Given the description of an element on the screen output the (x, y) to click on. 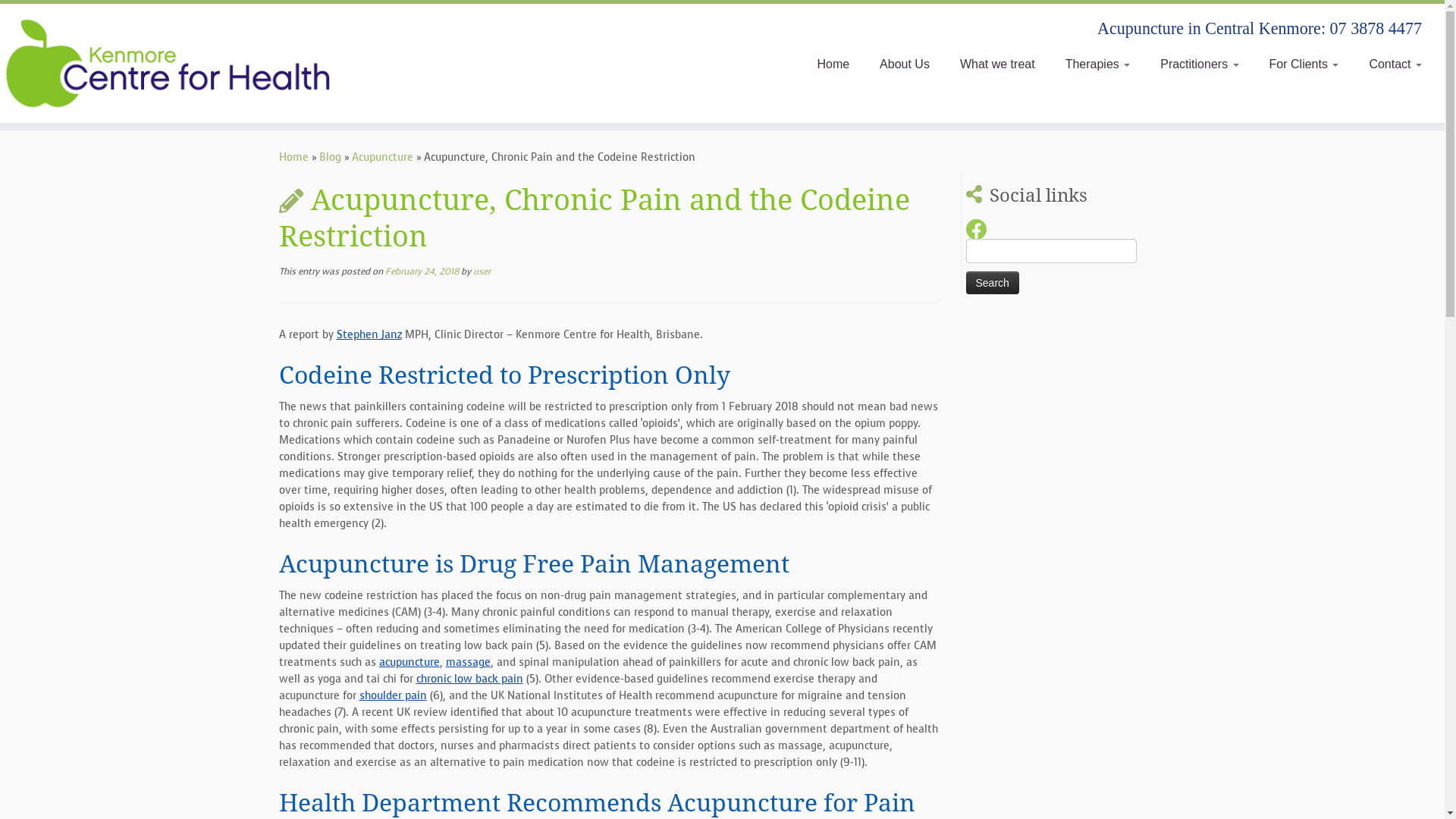
Acupuncture Element type: text (382, 157)
Blog Element type: text (329, 157)
Stephen Janz Element type: text (368, 334)
Follow me on Facebook Element type: hover (981, 229)
acupuncture Element type: text (409, 662)
What we treat Element type: text (997, 64)
chronic low back pain Element type: text (468, 678)
Search Element type: text (992, 282)
February 24, 2018 Element type: text (421, 271)
Home Element type: text (293, 157)
user Element type: text (481, 271)
shoulder pain Element type: text (392, 695)
For Clients Element type: text (1304, 64)
Contact Element type: text (1387, 64)
Therapies Element type: text (1097, 64)
Home Element type: text (832, 64)
massage Element type: text (467, 662)
About Us Element type: text (904, 64)
Practitioners Element type: text (1199, 64)
